Given the description of an element on the screen output the (x, y) to click on. 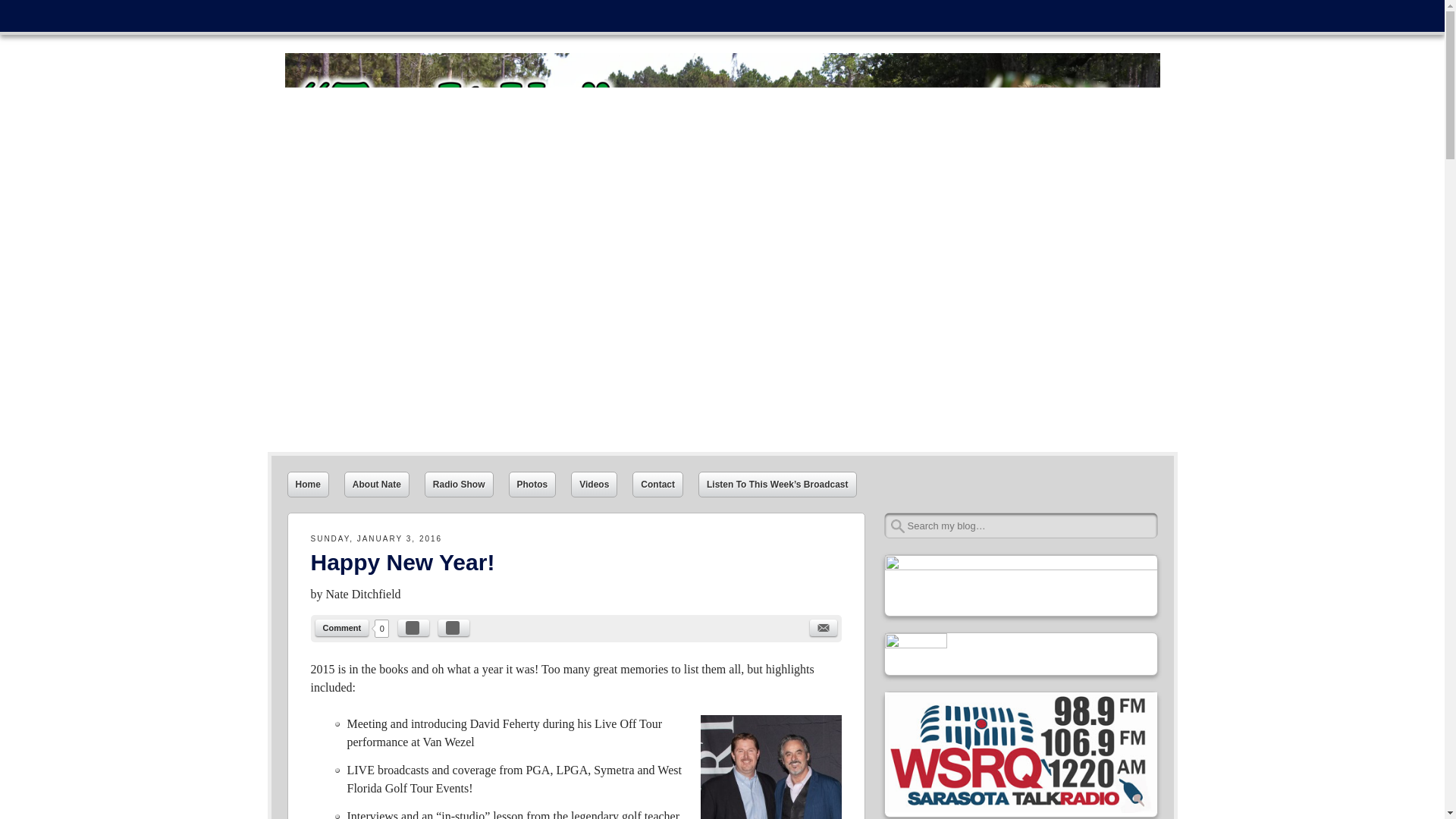
Permalink to Happy New Year! (403, 561)
Skip to content (299, 10)
Home (307, 484)
email (823, 627)
Search (26, 15)
Videos (593, 484)
Contact (656, 484)
Radio Show (459, 484)
View all posts by Nate Ditchfield (363, 594)
Share on Facebook (413, 627)
Comment (342, 627)
Photos (532, 484)
Comment on this Post (342, 627)
Tweet this Post (453, 627)
